Given the description of an element on the screen output the (x, y) to click on. 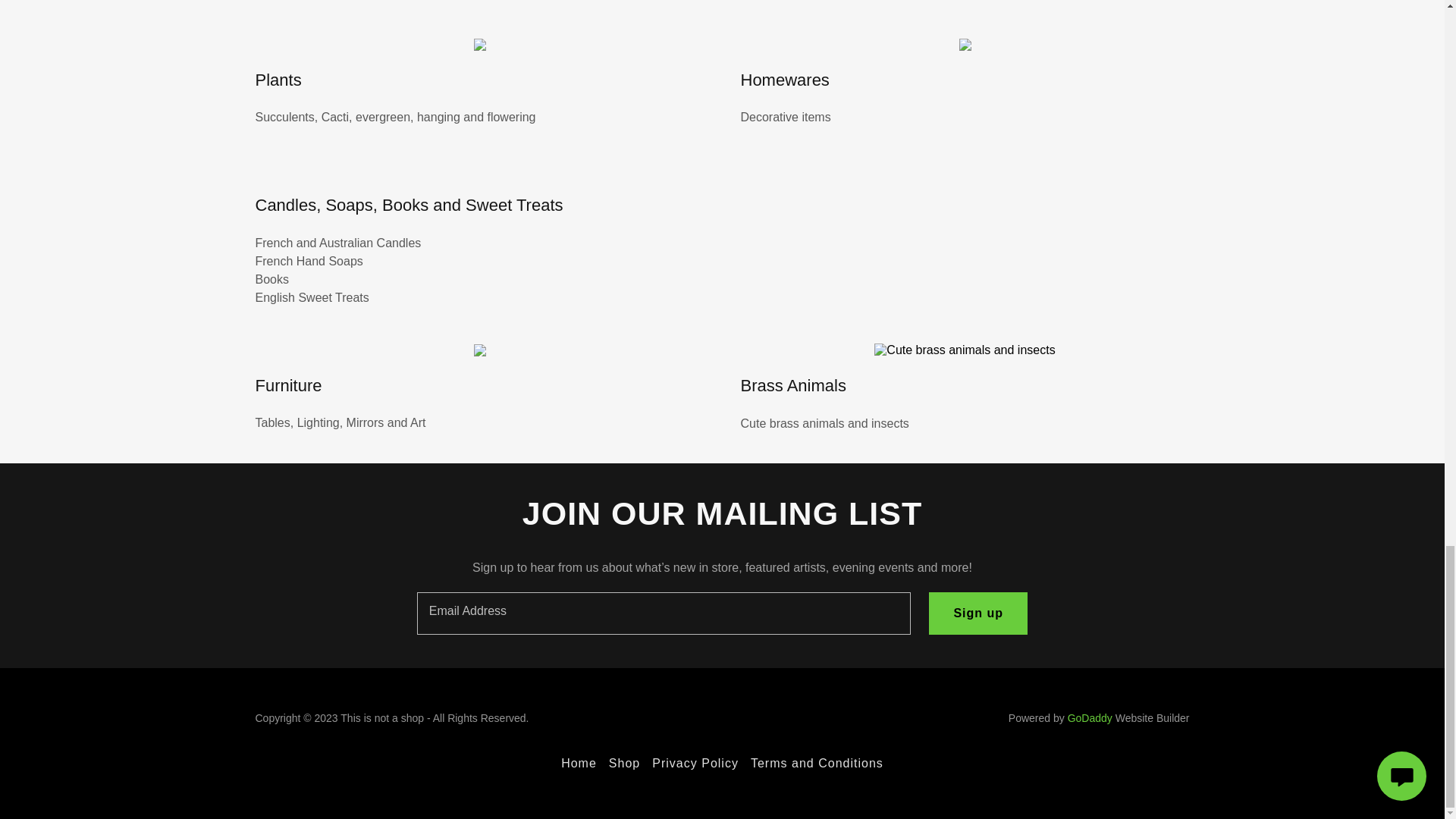
Shop (624, 763)
Sign up (977, 613)
GoDaddy (1089, 717)
Home (578, 763)
